Given the description of an element on the screen output the (x, y) to click on. 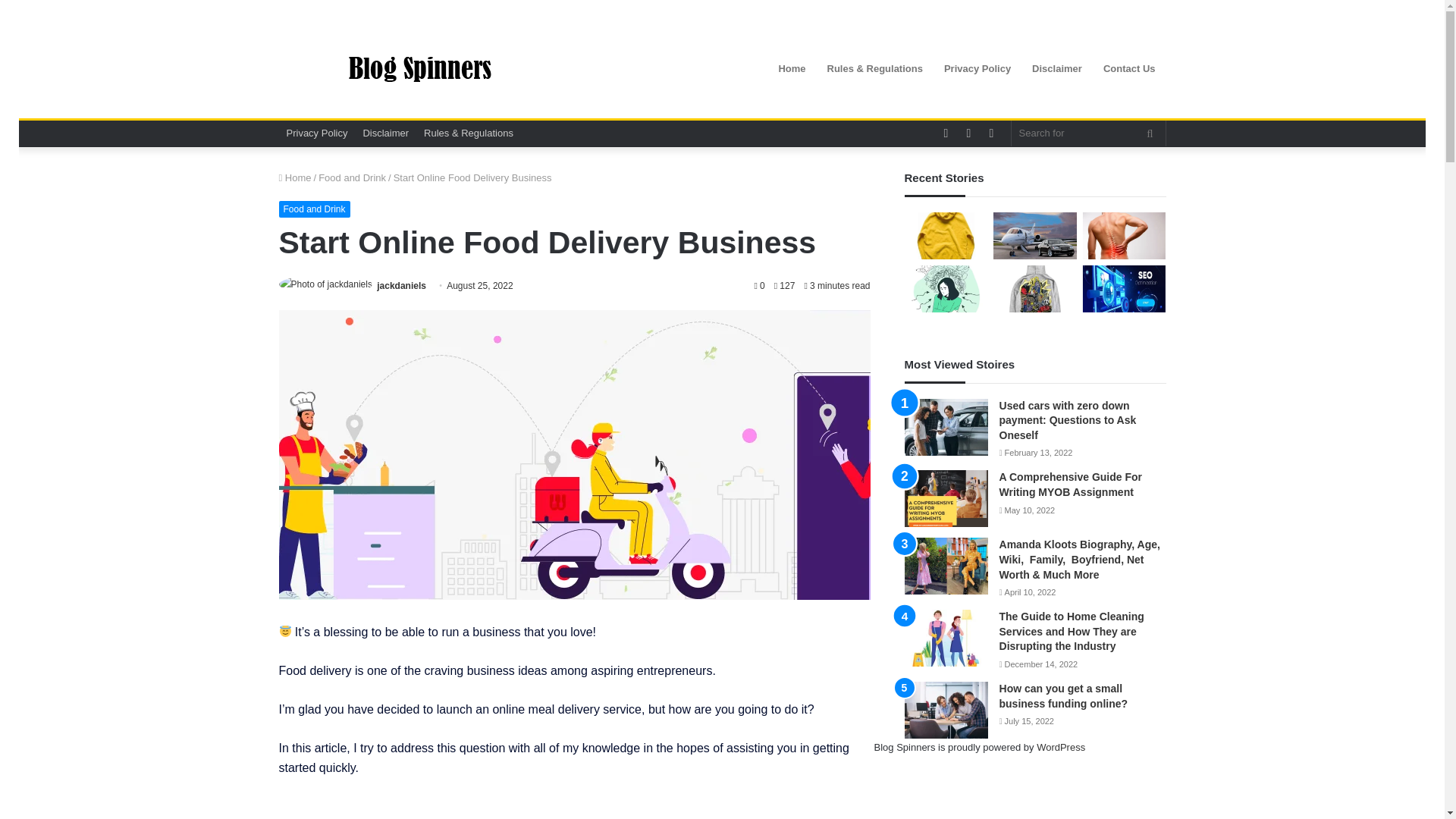
Food and Drink (314, 208)
jackdaniels (401, 285)
Disclaimer (385, 132)
Search for (1150, 132)
jackdaniels (401, 285)
Privacy Policy (317, 132)
Food and Drink (351, 177)
Blog Spinners (419, 69)
Home (295, 177)
Search for (1088, 132)
Privacy Policy (977, 68)
